Given the description of an element on the screen output the (x, y) to click on. 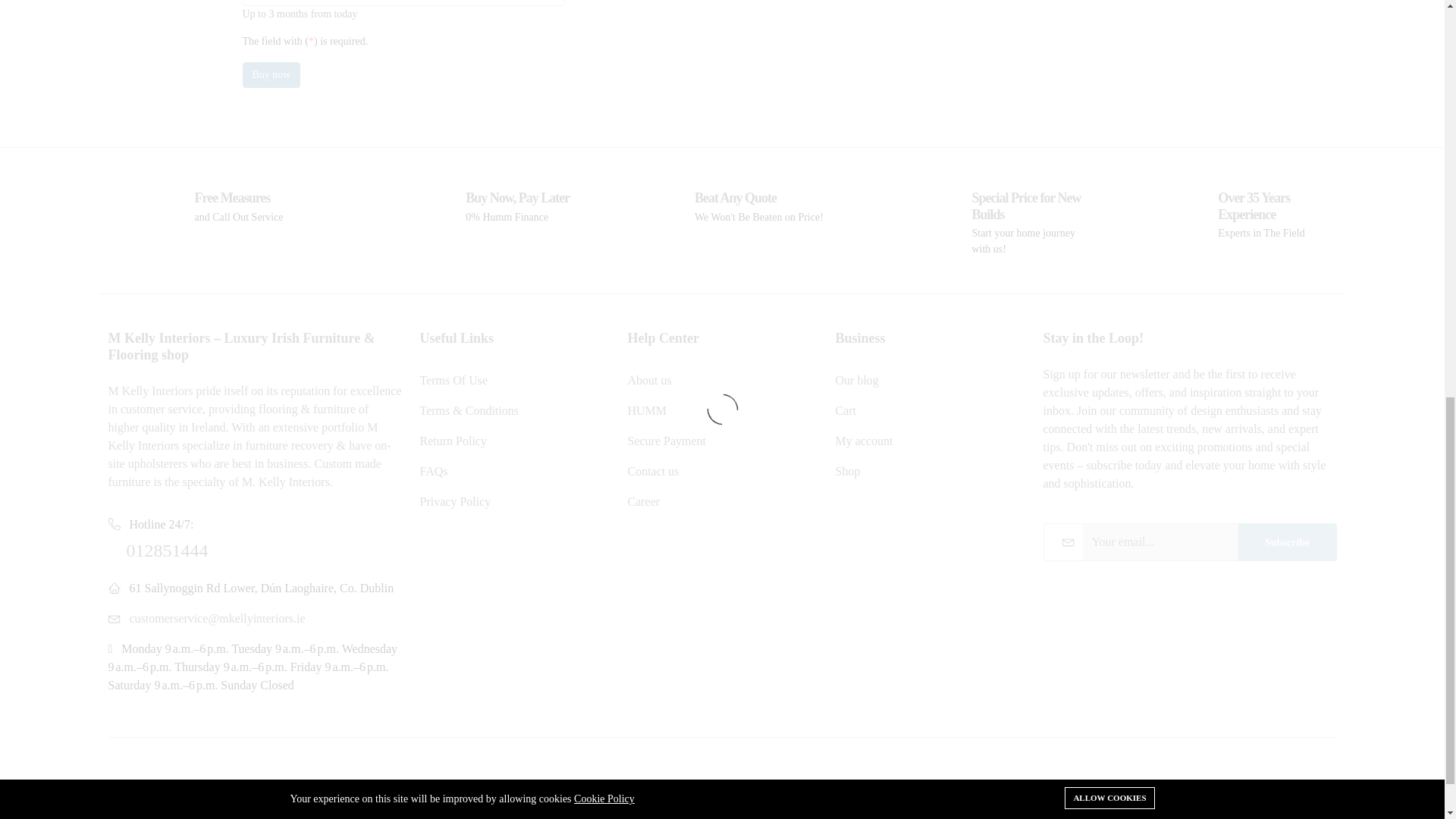
TikTok (1245, 817)
Instagram (1306, 817)
Facebook (1185, 817)
